Given the description of an element on the screen output the (x, y) to click on. 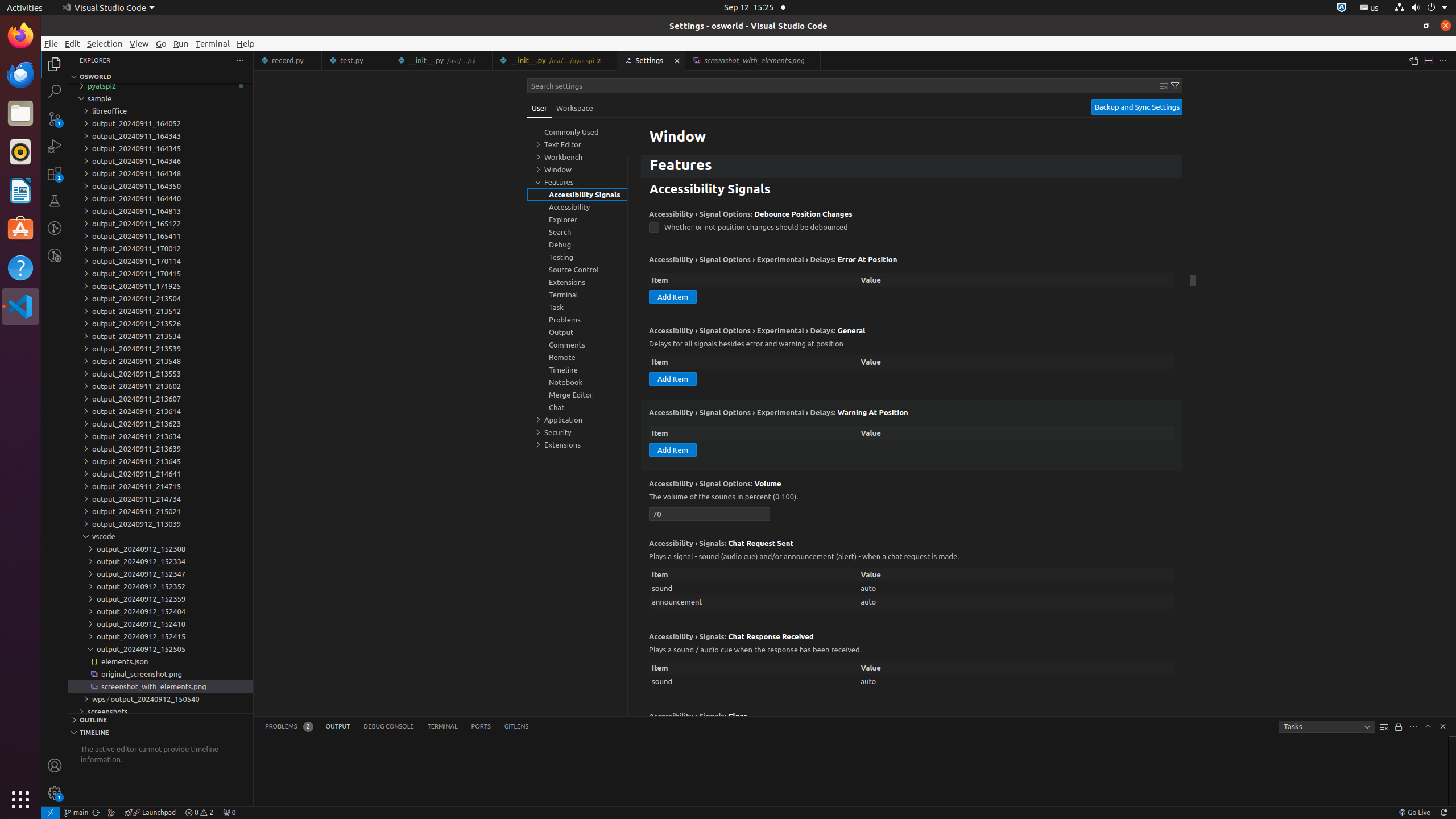
broadcast Go Live, Click to run live server Element type: push-button (1414, 812)
Task, group Element type: tree-item (577, 306)
Debug Console (Ctrl+Shift+Y) Element type: page-tab (388, 726)
Hide Panel Element type: push-button (1442, 726)
Terminal, group Element type: tree-item (577, 294)
